Given the description of an element on the screen output the (x, y) to click on. 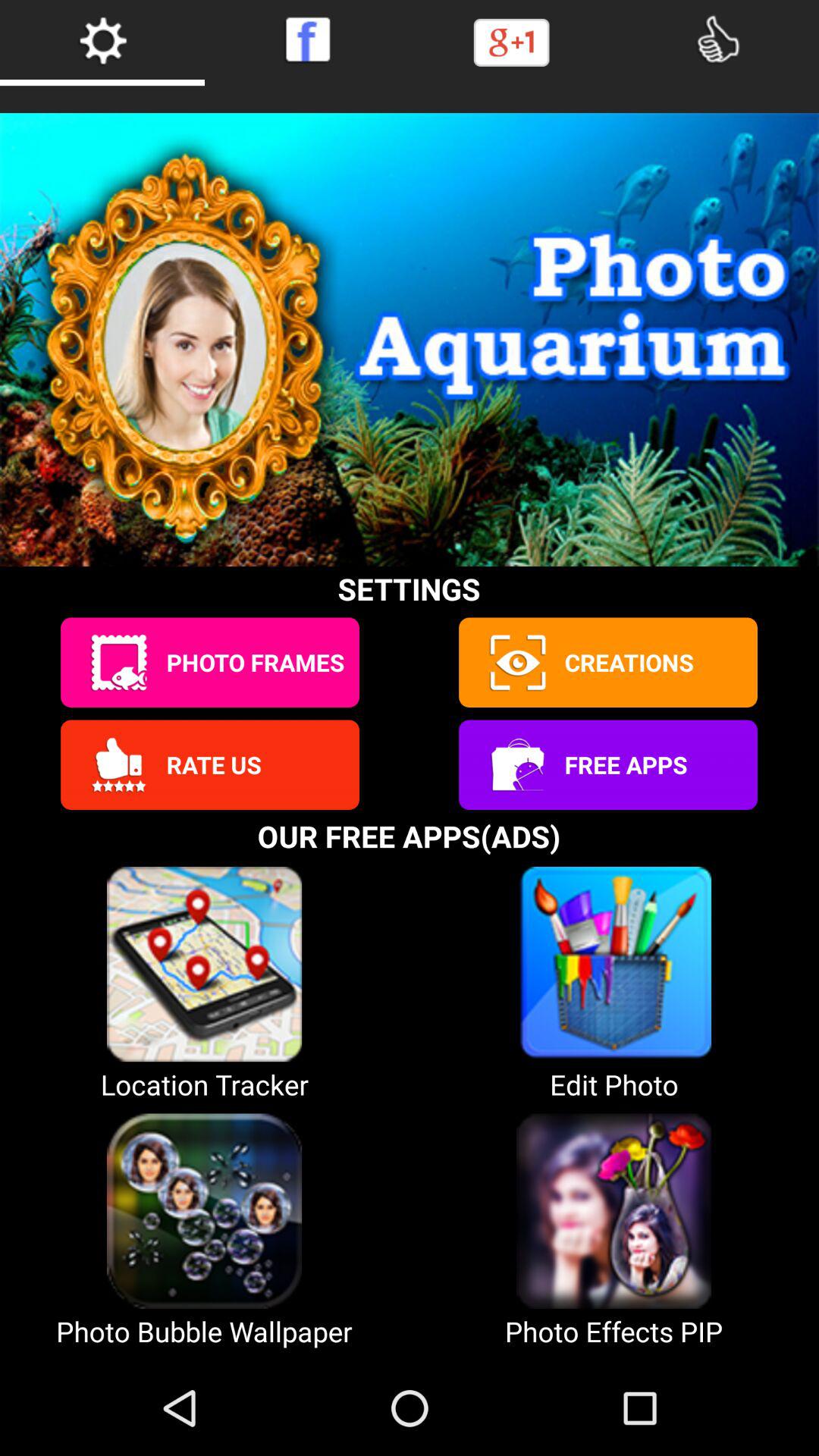
get free apps (516, 764)
